Given the description of an element on the screen output the (x, y) to click on. 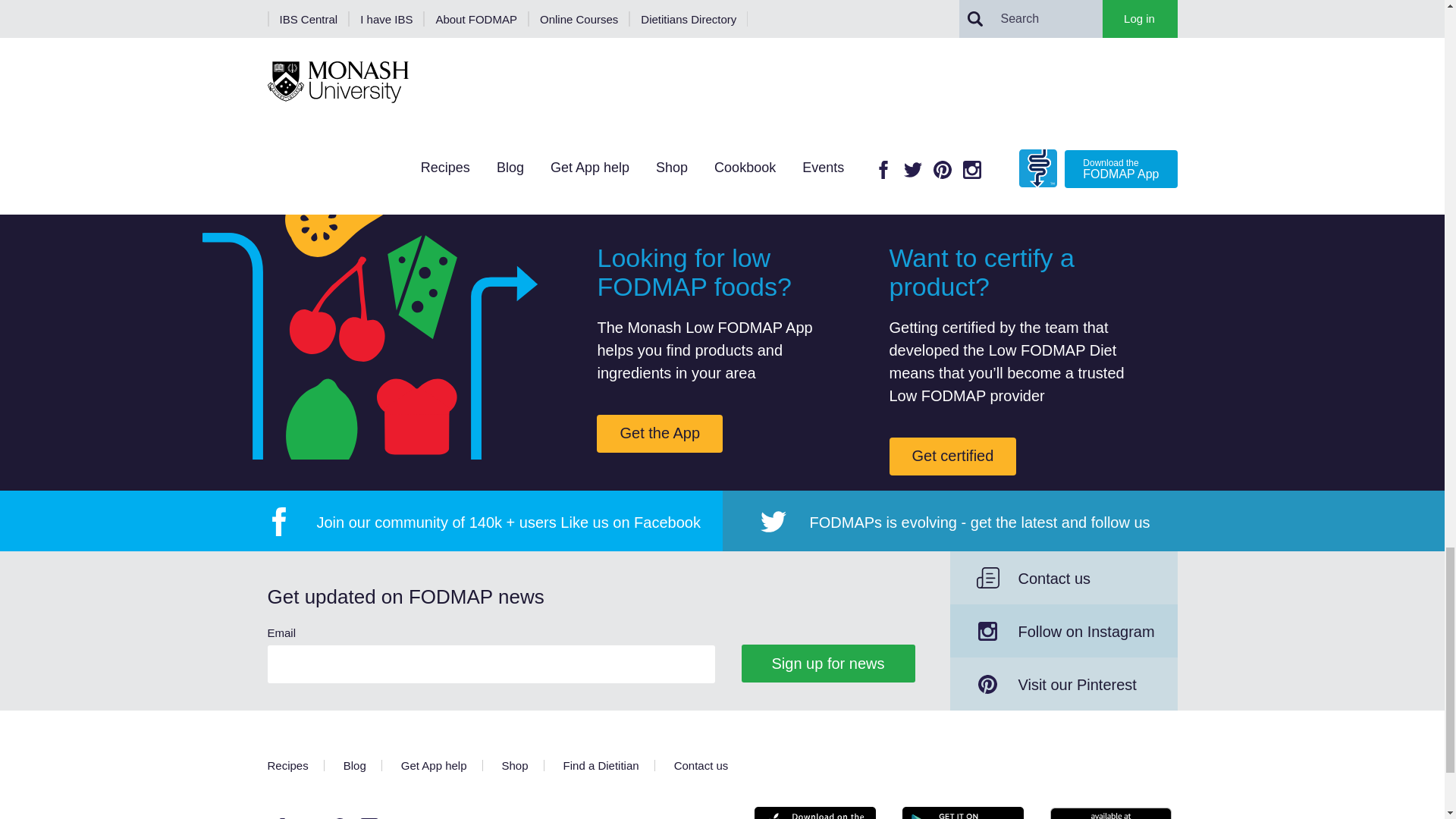
Sign up for news (828, 663)
